Given the description of an element on the screen output the (x, y) to click on. 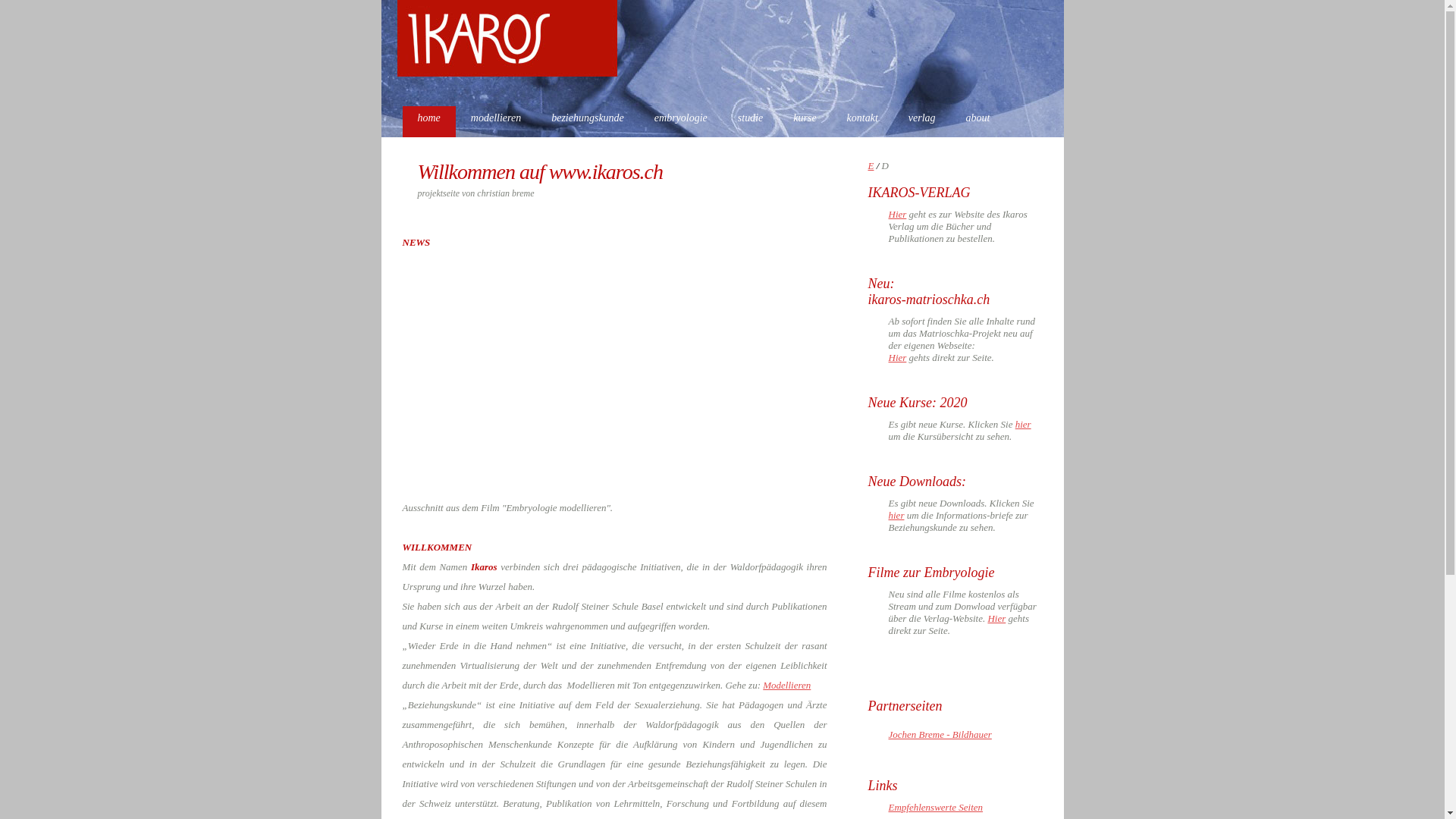
Willkommen auf www.ikaros.ch Element type: text (531, 171)
embryologie Element type: text (680, 121)
studie Element type: text (750, 121)
Hier Element type: text (897, 357)
Hier Element type: text (996, 618)
hier Element type: text (1023, 423)
beziehungskunde Element type: text (587, 121)
hier Element type: text (896, 514)
kontakt Element type: text (862, 121)
about Element type: text (977, 121)
Modellieren Element type: text (786, 684)
verlag Element type: text (921, 121)
Jochen Breme - Bildhauer Element type: text (939, 734)
modellieren Element type: text (495, 121)
home Element type: text (428, 121)
Hier Element type: text (897, 213)
Empfehlenswerte Seiten Element type: text (935, 806)
kurse Element type: text (804, 121)
E Element type: text (870, 165)
